Given the description of an element on the screen output the (x, y) to click on. 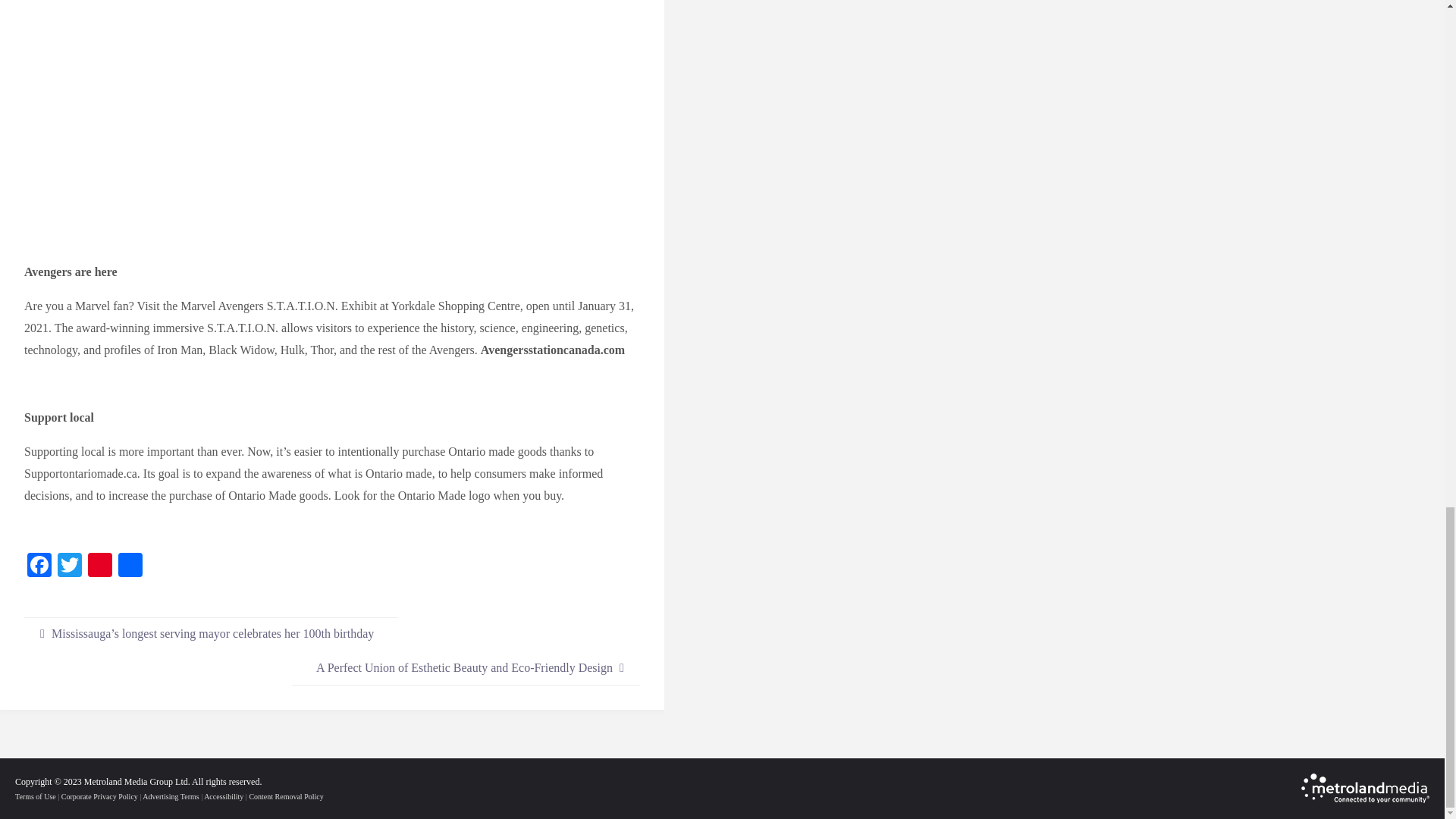
A Perfect Union of Esthetic Beauty and Eco-Friendly Design (466, 668)
Share (130, 566)
Twitter (69, 566)
Facebook (39, 566)
Pinterest (99, 566)
Facebook (39, 566)
Twitter (69, 566)
Pinterest (99, 566)
